Given the description of an element on the screen output the (x, y) to click on. 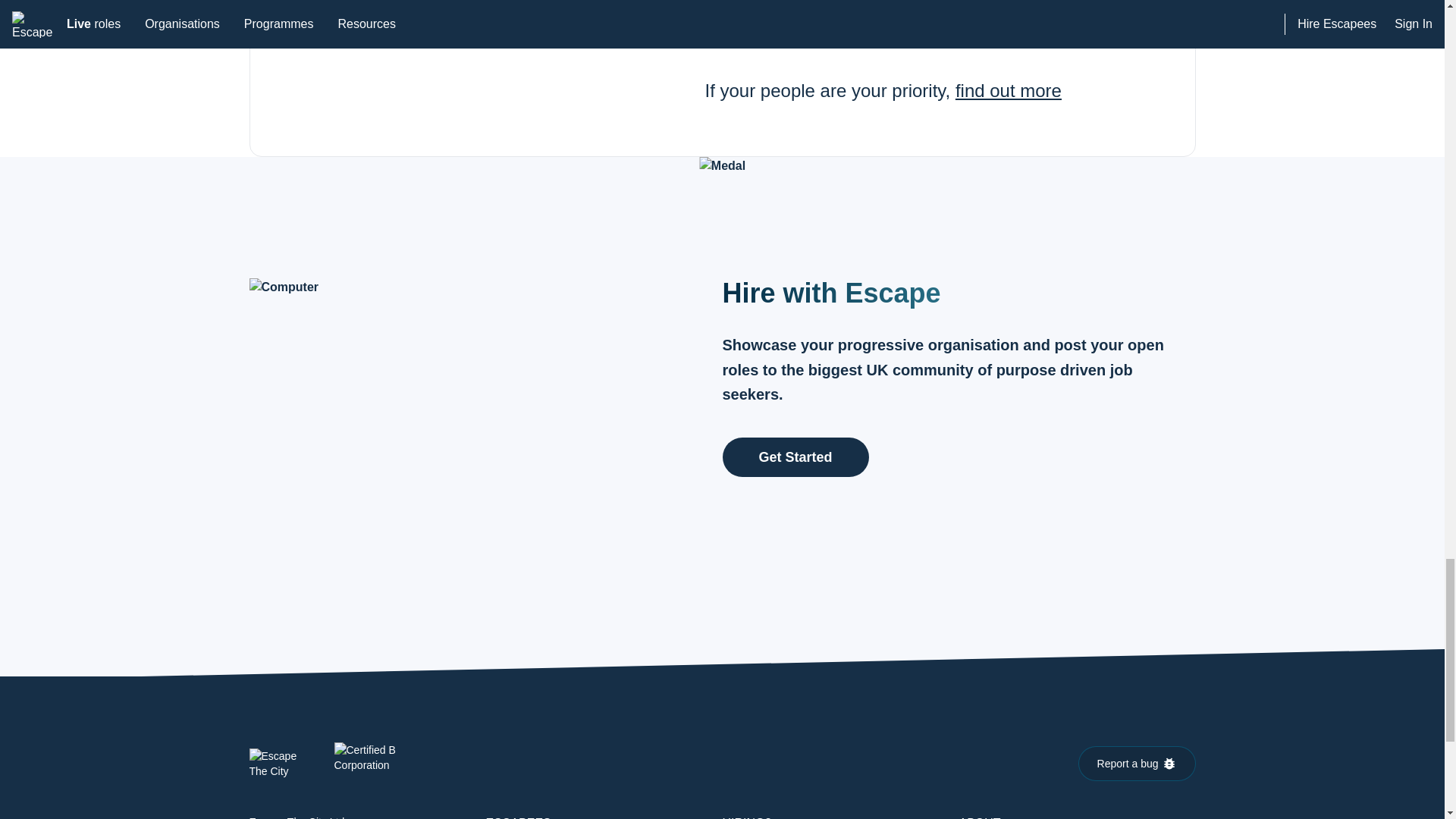
Report a bug (1136, 763)
find out more (1008, 90)
Get Started (794, 455)
